Given the description of an element on the screen output the (x, y) to click on. 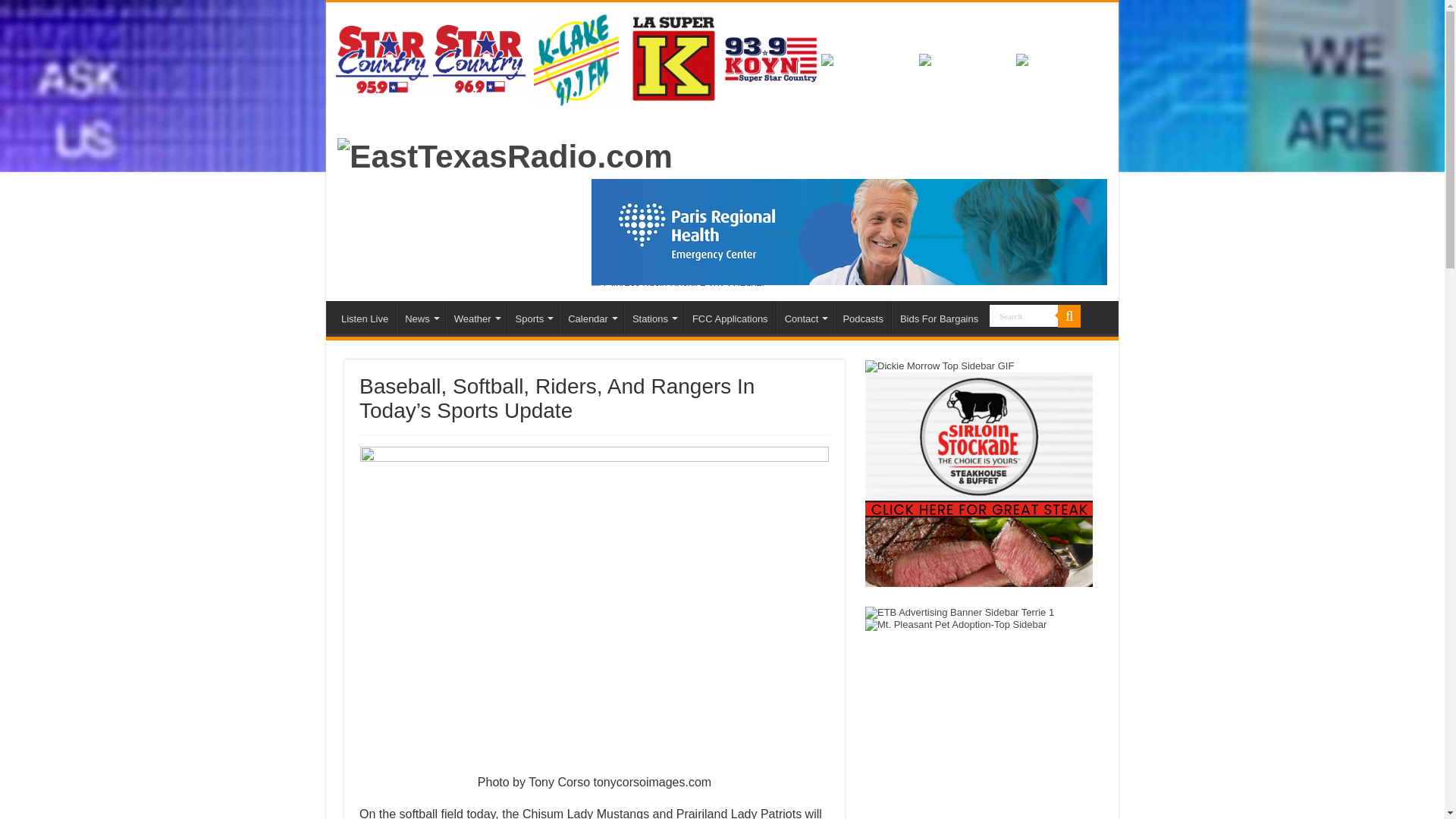
Listen Live (364, 316)
Search (1024, 315)
Search (1024, 315)
Weather (475, 316)
Search (1024, 315)
News (420, 316)
EastTexasRadio.com (504, 153)
